Given the description of an element on the screen output the (x, y) to click on. 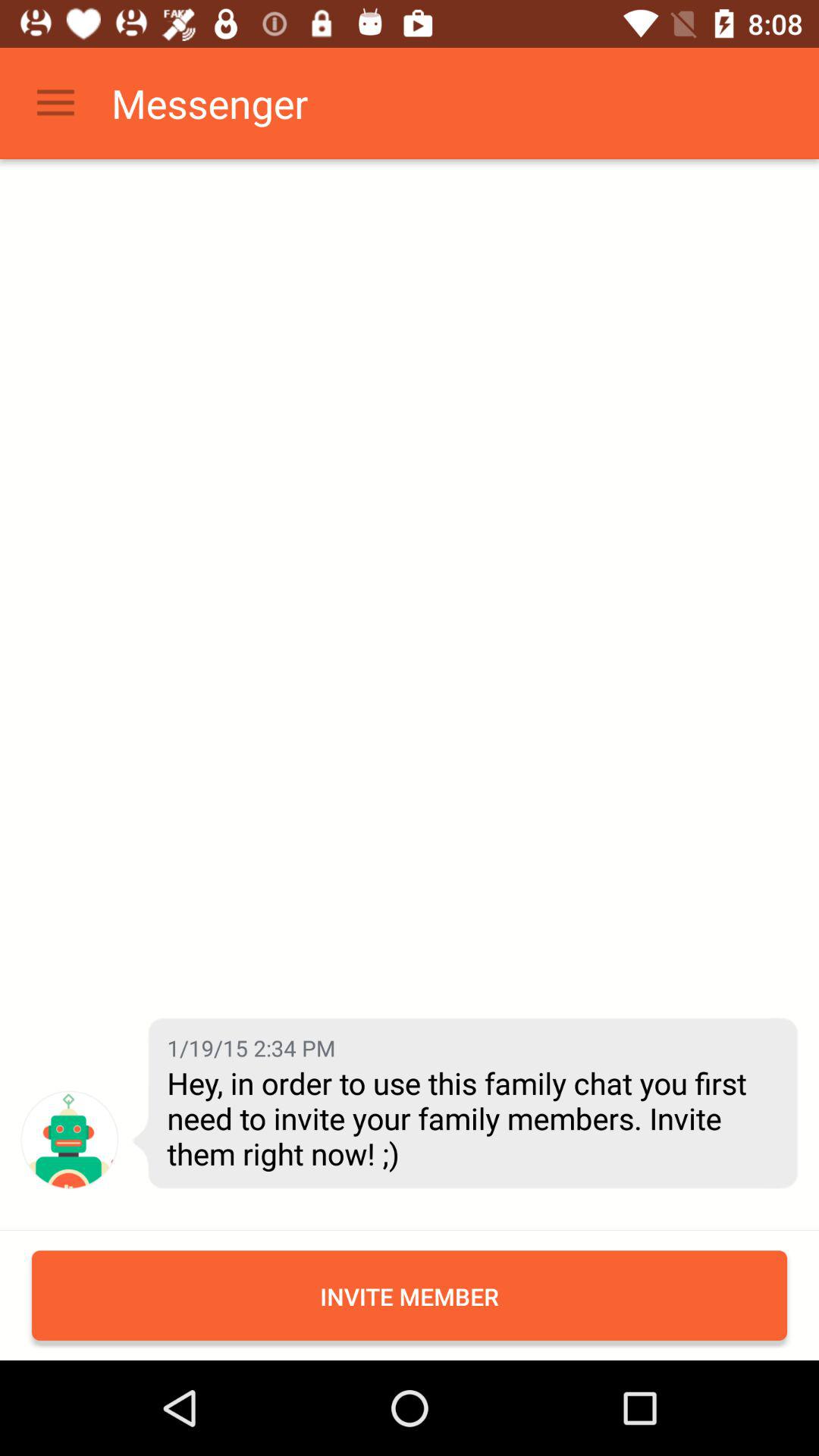
flip to the hey in order icon (471, 1117)
